Given the description of an element on the screen output the (x, y) to click on. 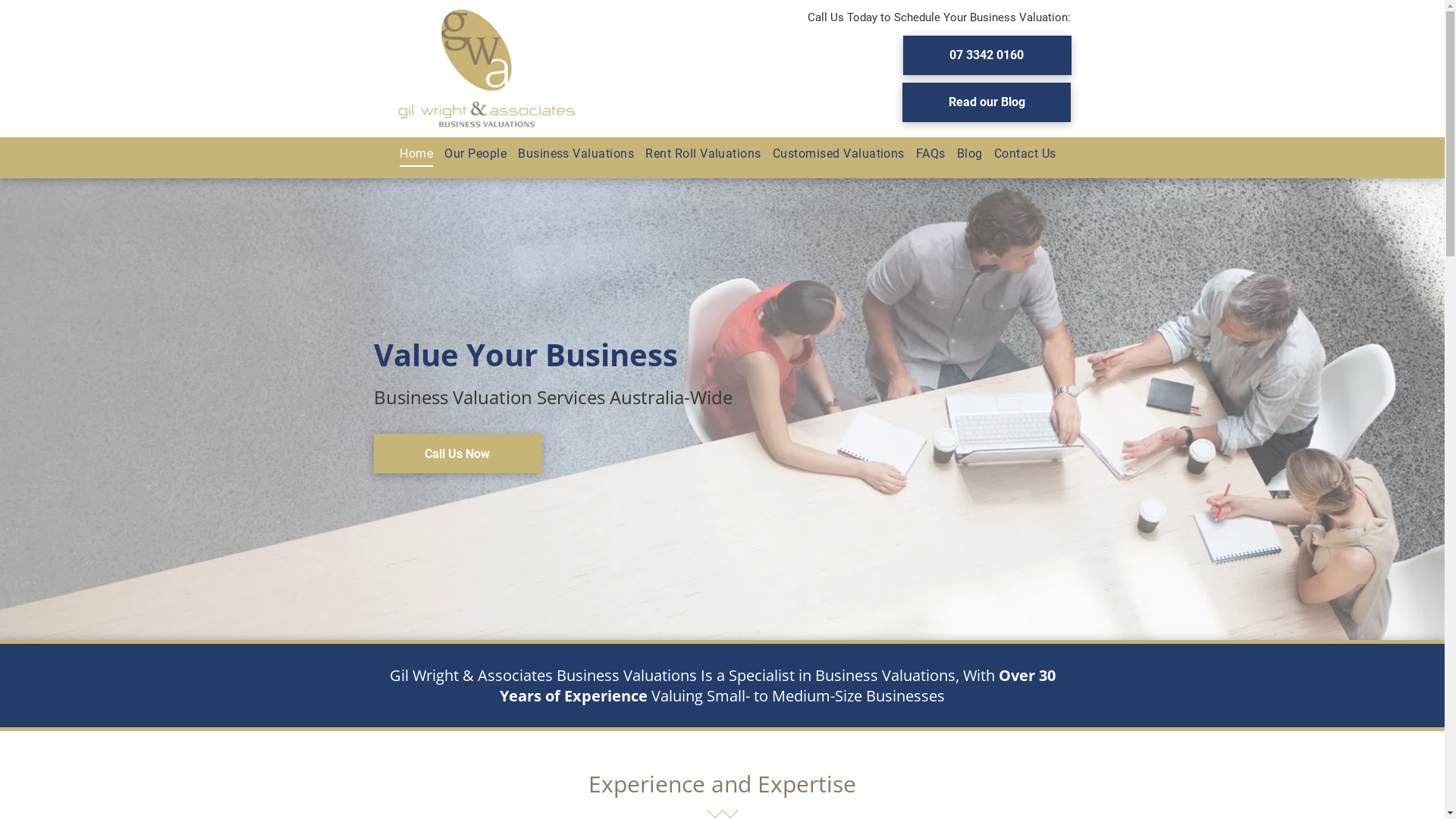
Our People Element type: text (469, 153)
Contact Us Element type: text (1019, 153)
FAQs Element type: text (924, 153)
Rent Roll Valuations Element type: text (697, 153)
Blog Element type: text (963, 153)
Home Element type: text (410, 153)
07 3342 0160 Element type: text (986, 54)
Business Valuations Element type: text (569, 153)
Read our Blog Element type: text (986, 101)
Call Us Now Element type: text (457, 453)
Customised Valuations Element type: text (832, 153)
